Given the description of an element on the screen output the (x, y) to click on. 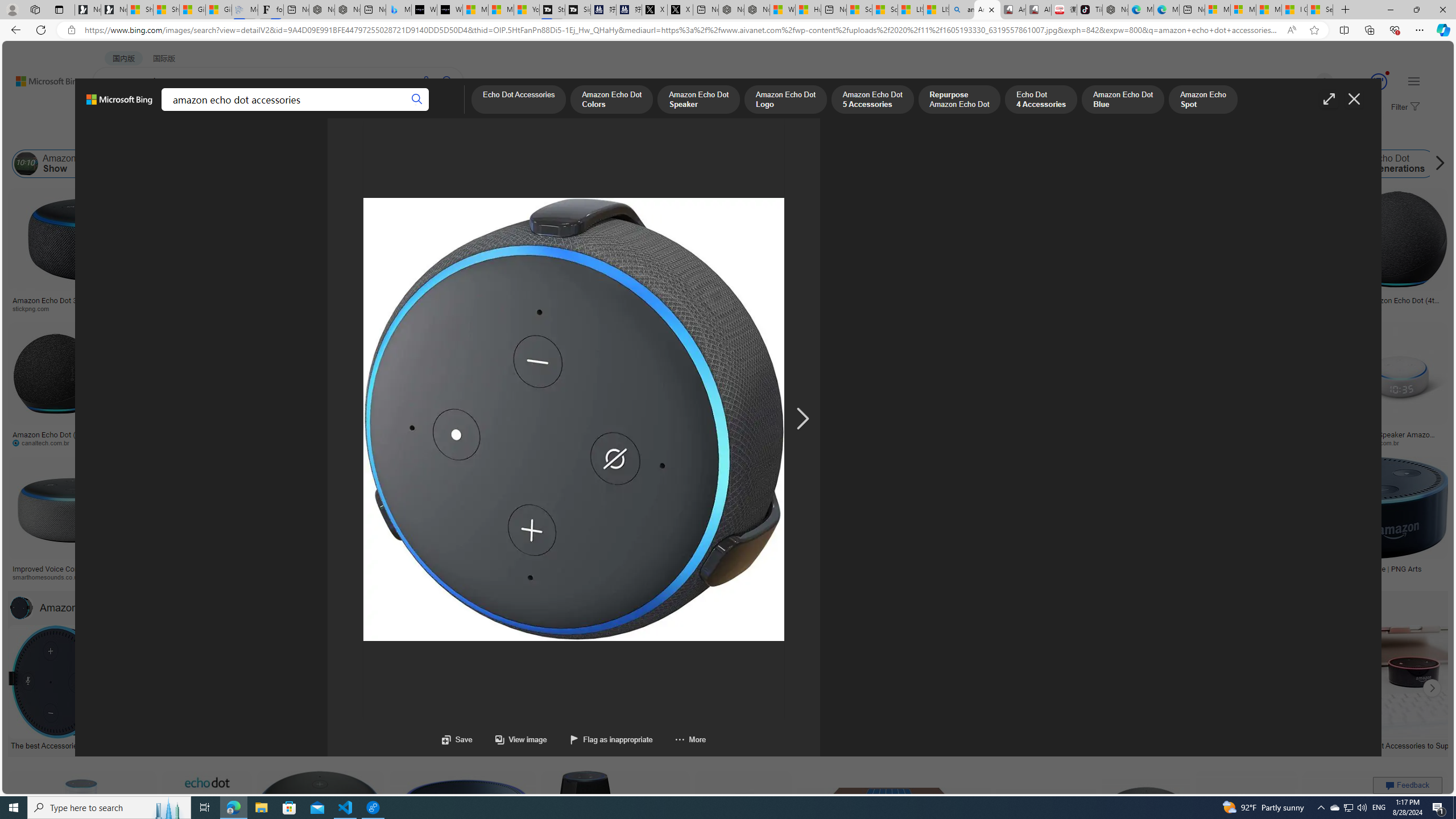
pricehistoryapp.com (287, 442)
Amazon Echo 2nd Generation (608, 163)
Best Amazon Echo Accessories - Tech Advisor (304, 744)
Scroll right (1436, 163)
I Gained 20 Pounds of Muscle in 30 Days! | Watch (1293, 9)
